Given the description of an element on the screen output the (x, y) to click on. 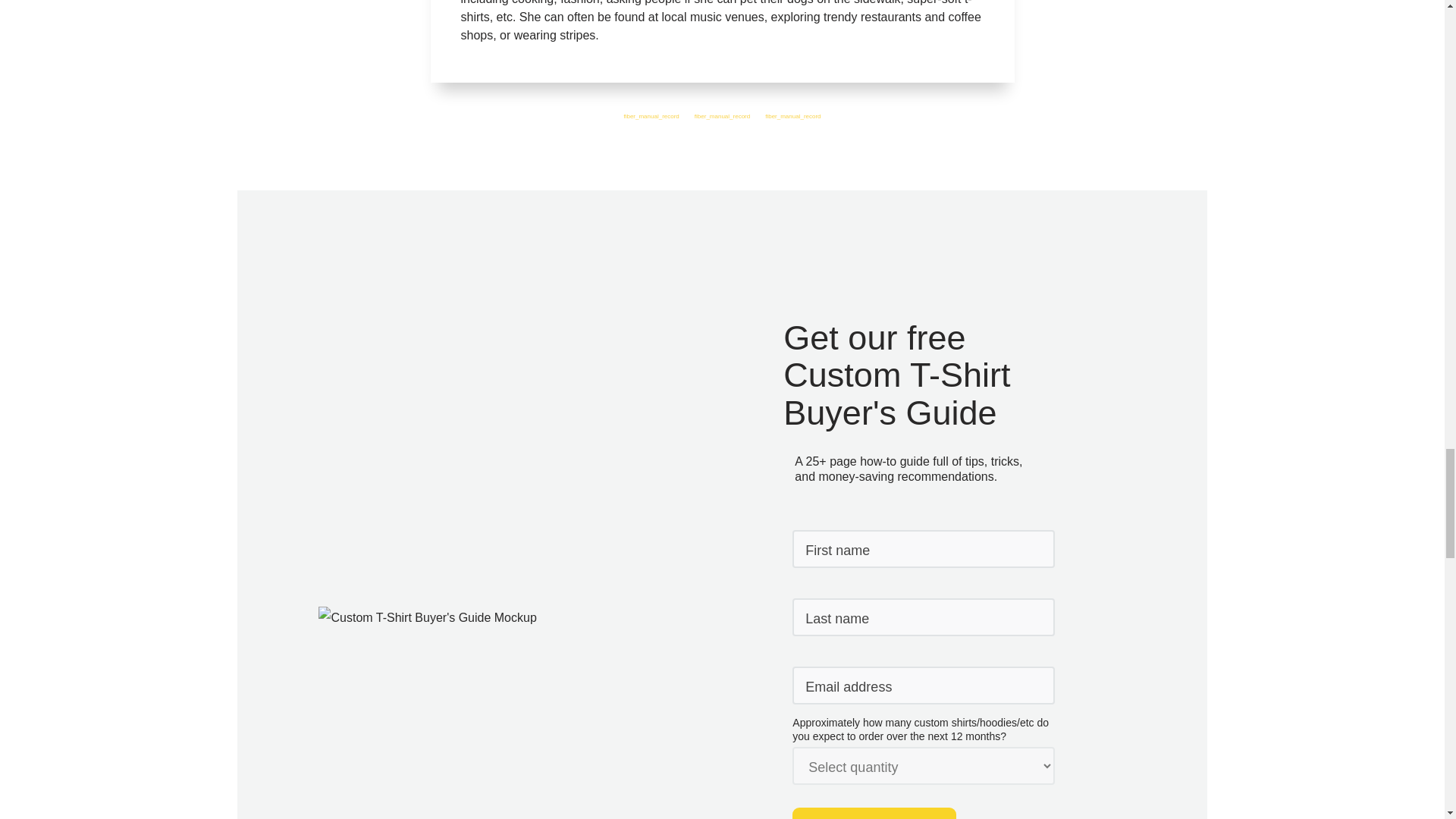
GET FREE GUIDE (874, 813)
